Given the description of an element on the screen output the (x, y) to click on. 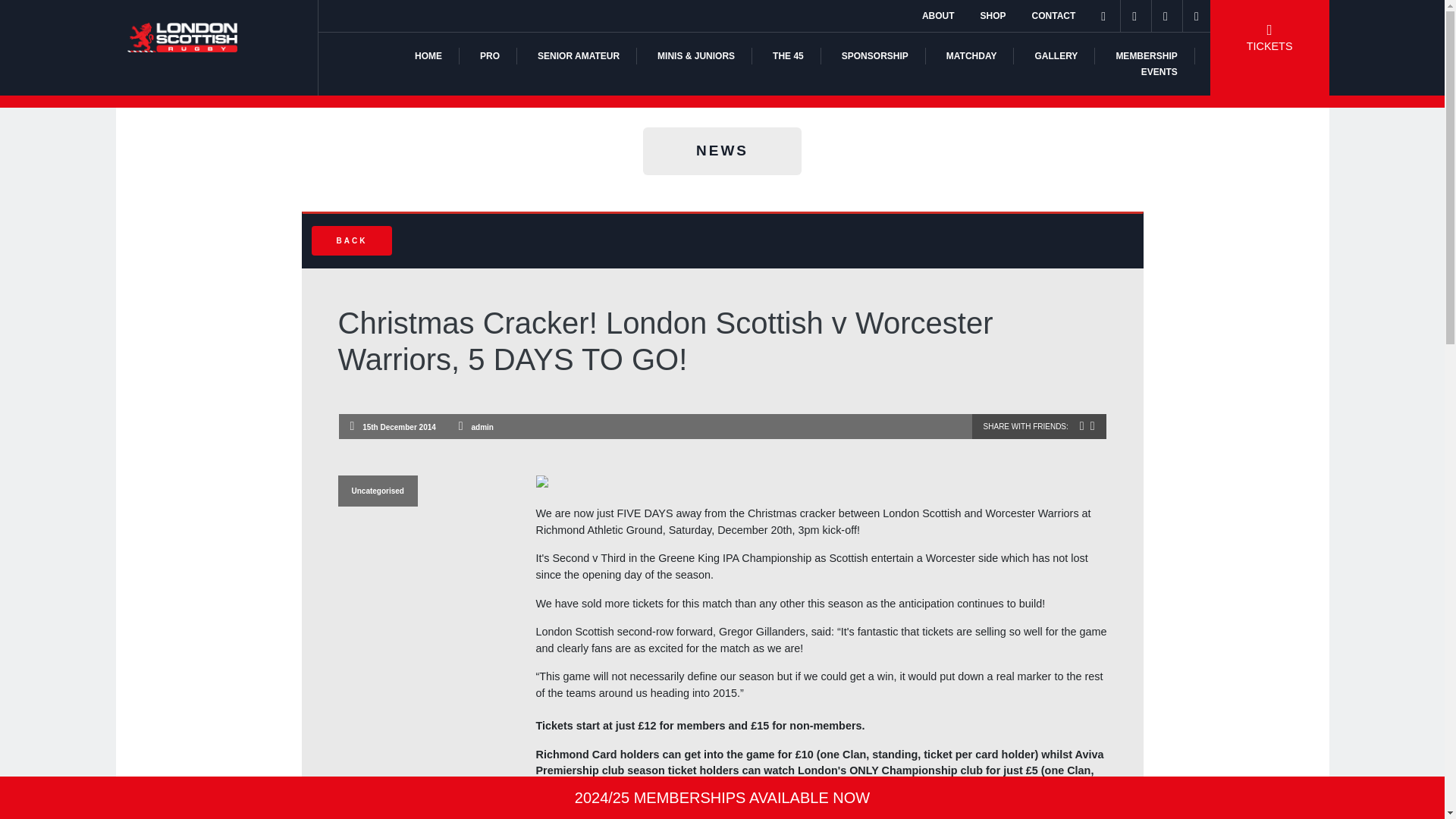
GALLERY (1055, 55)
SHOP (992, 15)
THE 45 (788, 55)
SENIOR AMATEUR (578, 55)
MEMBERSHIP (1145, 55)
SPONSORSHIP (874, 55)
CONTACT (1053, 15)
HOME (428, 55)
ABOUT (938, 15)
PRO (489, 55)
MATCHDAY (971, 55)
